Given the description of an element on the screen output the (x, y) to click on. 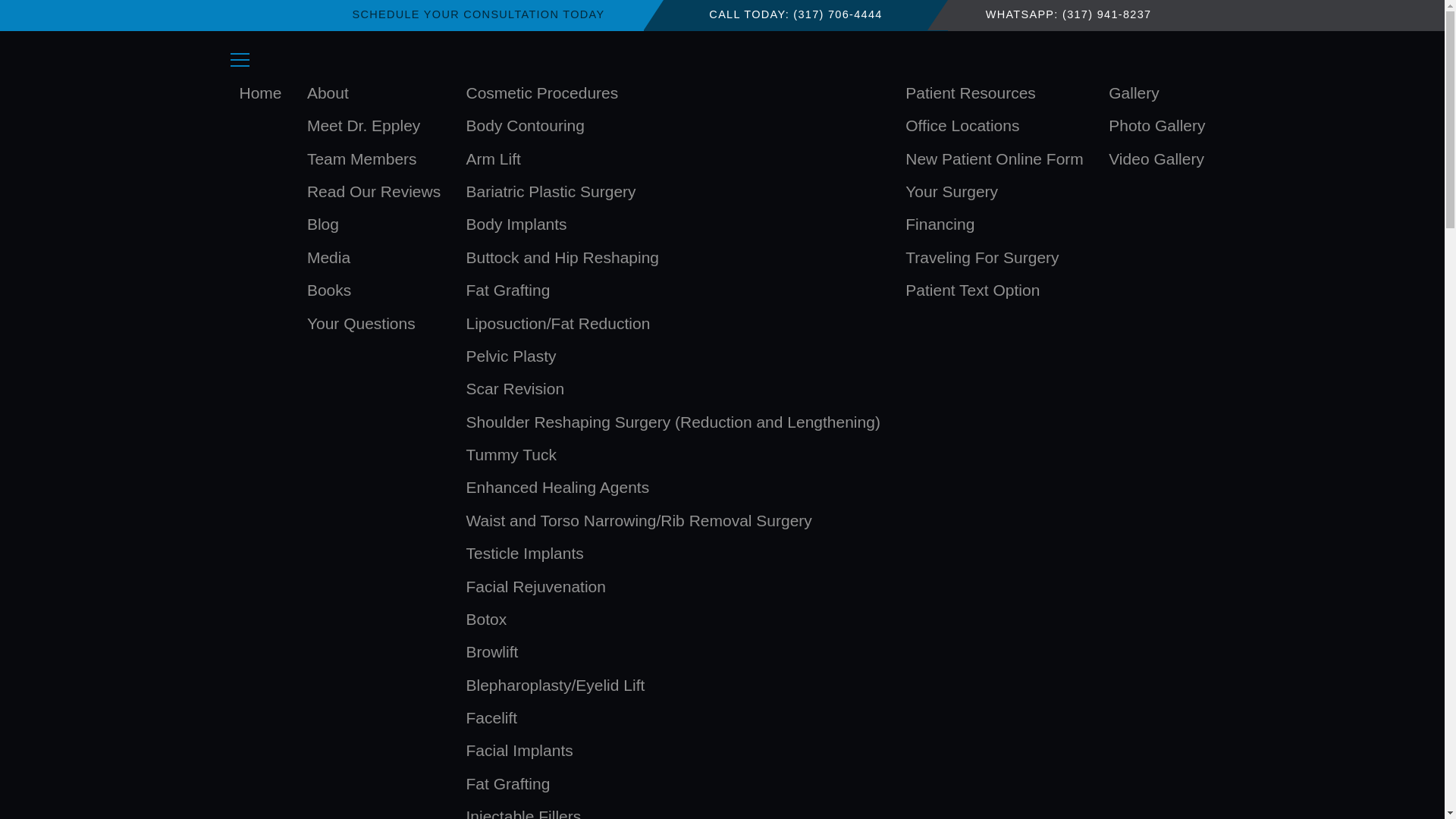
Fat Grafting (508, 783)
Facial Rejuvenation (535, 585)
Bariatric Plastic Surgery (550, 191)
Arm Lift (493, 158)
Fat Grafting (508, 289)
Books (328, 289)
Enhanced Healing Agents (558, 486)
Meet Dr. Eppley (363, 124)
Body Implants (516, 224)
Pelvic Plasty (511, 355)
Body Contouring (525, 124)
Browlift (492, 651)
About (328, 92)
SCHEDULE YOUR CONSULTATION TODAY (478, 15)
Cosmetic Procedures (542, 92)
